Given the description of an element on the screen output the (x, y) to click on. 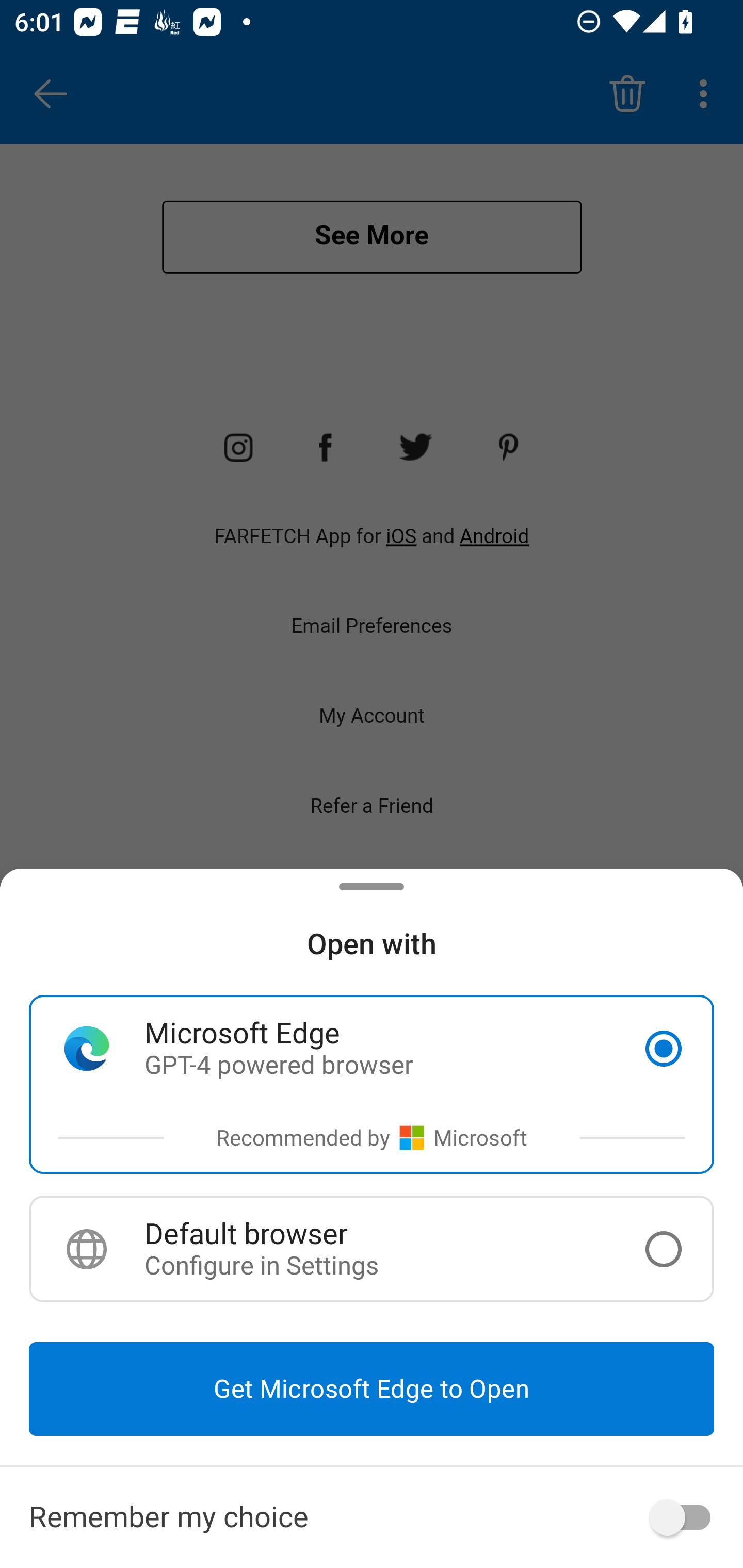
Default browser Configure in Settings (371, 1248)
Get Microsoft Edge to Open (371, 1389)
Remember my choice (371, 1517)
